Given the description of an element on the screen output the (x, y) to click on. 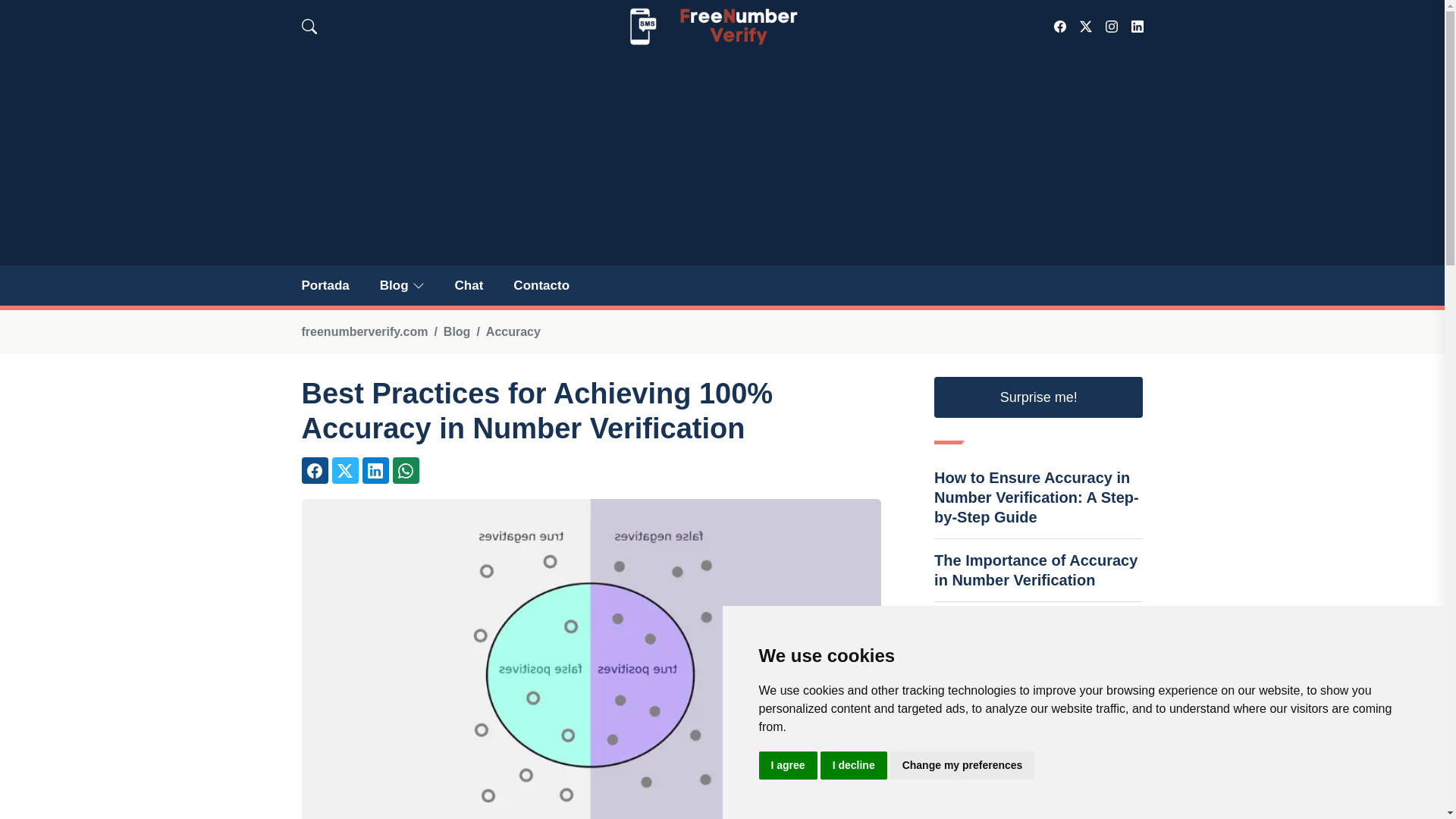
Contacto (541, 285)
Blog (402, 285)
I agree (787, 765)
Change my preferences (962, 765)
I decline (853, 765)
Portada (325, 285)
